Given the description of an element on the screen output the (x, y) to click on. 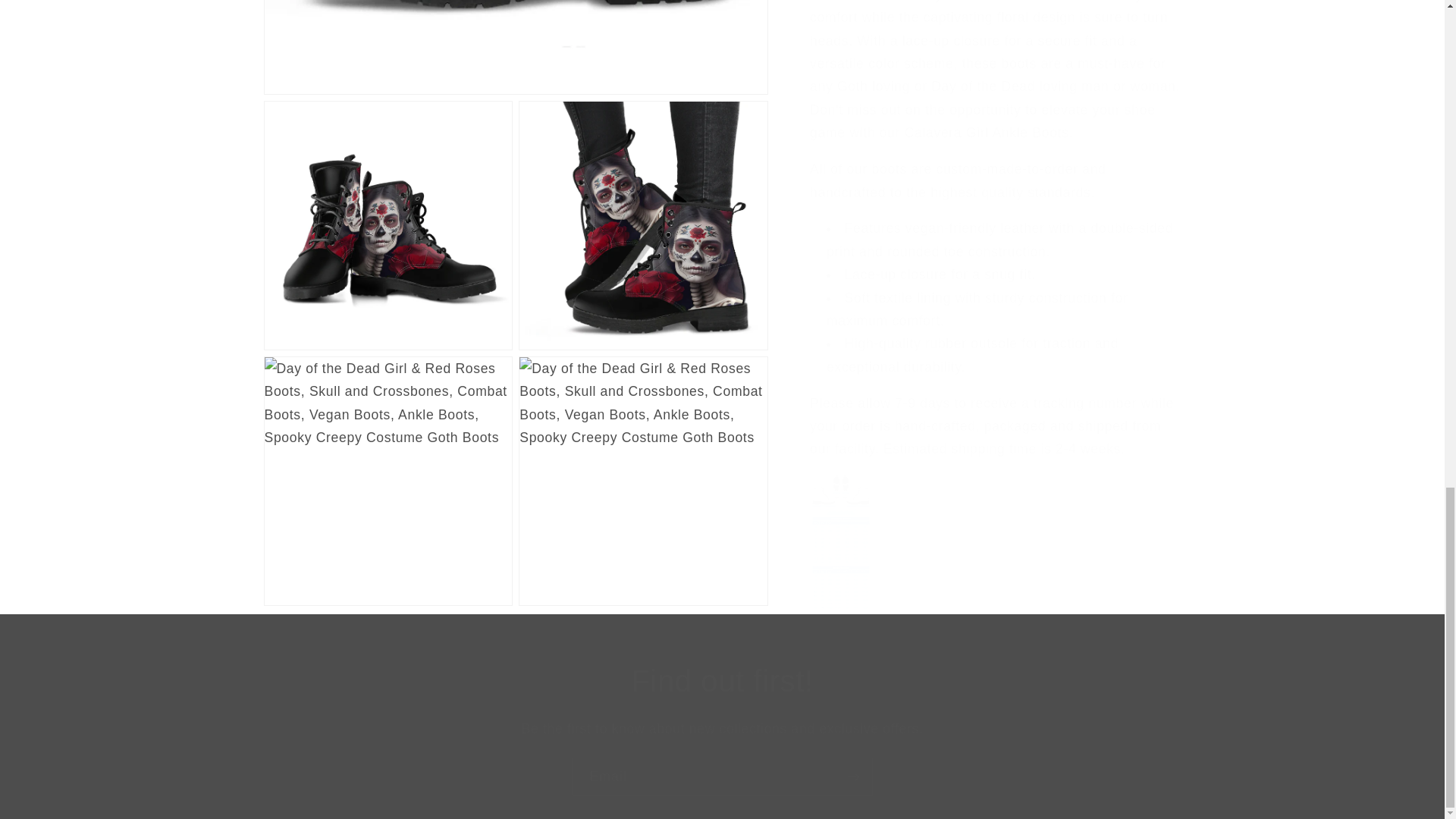
Find out first! (722, 680)
Email (722, 776)
